Given the description of an element on the screen output the (x, y) to click on. 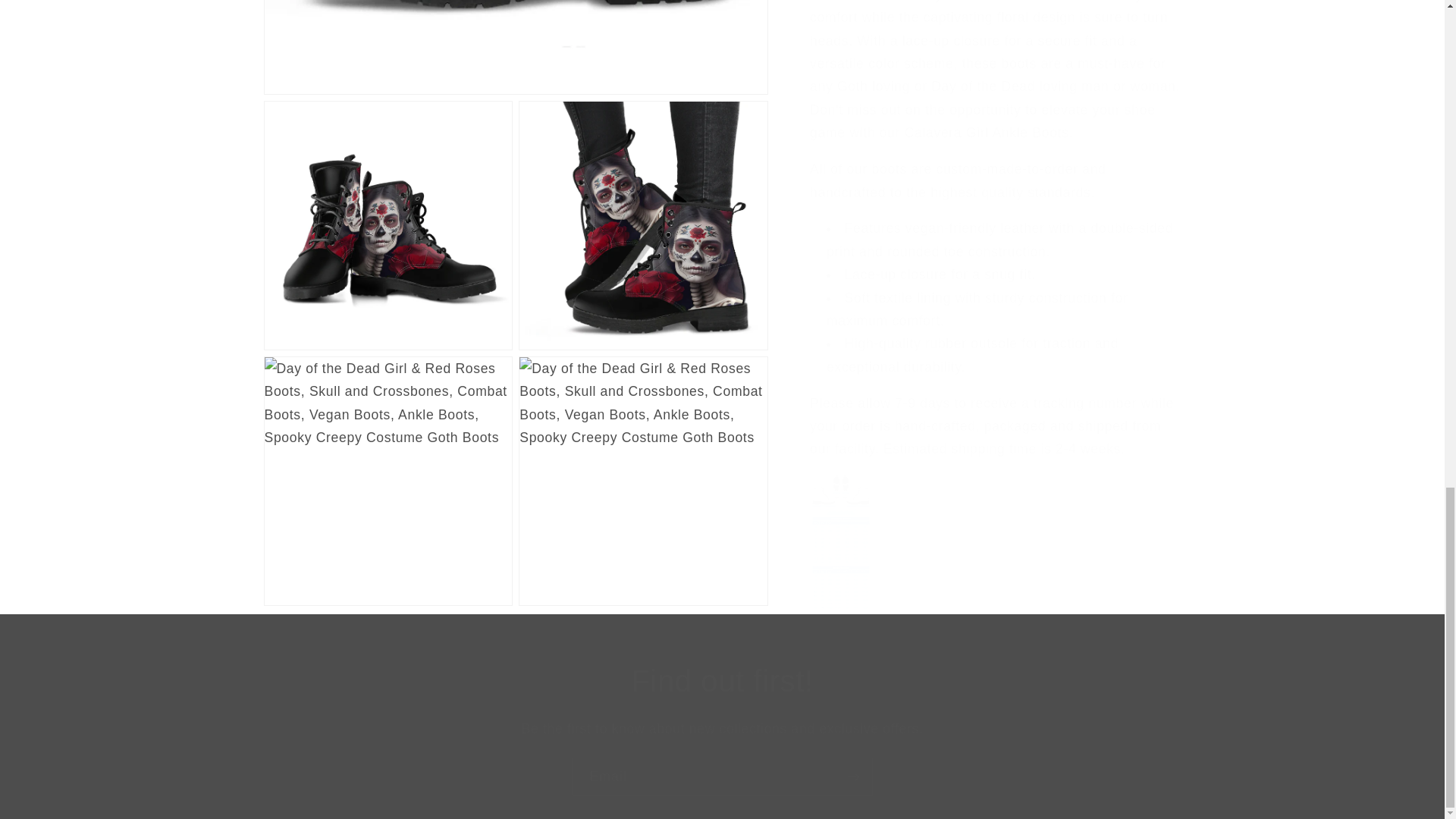
Find out first! (722, 680)
Email (722, 776)
